Given the description of an element on the screen output the (x, y) to click on. 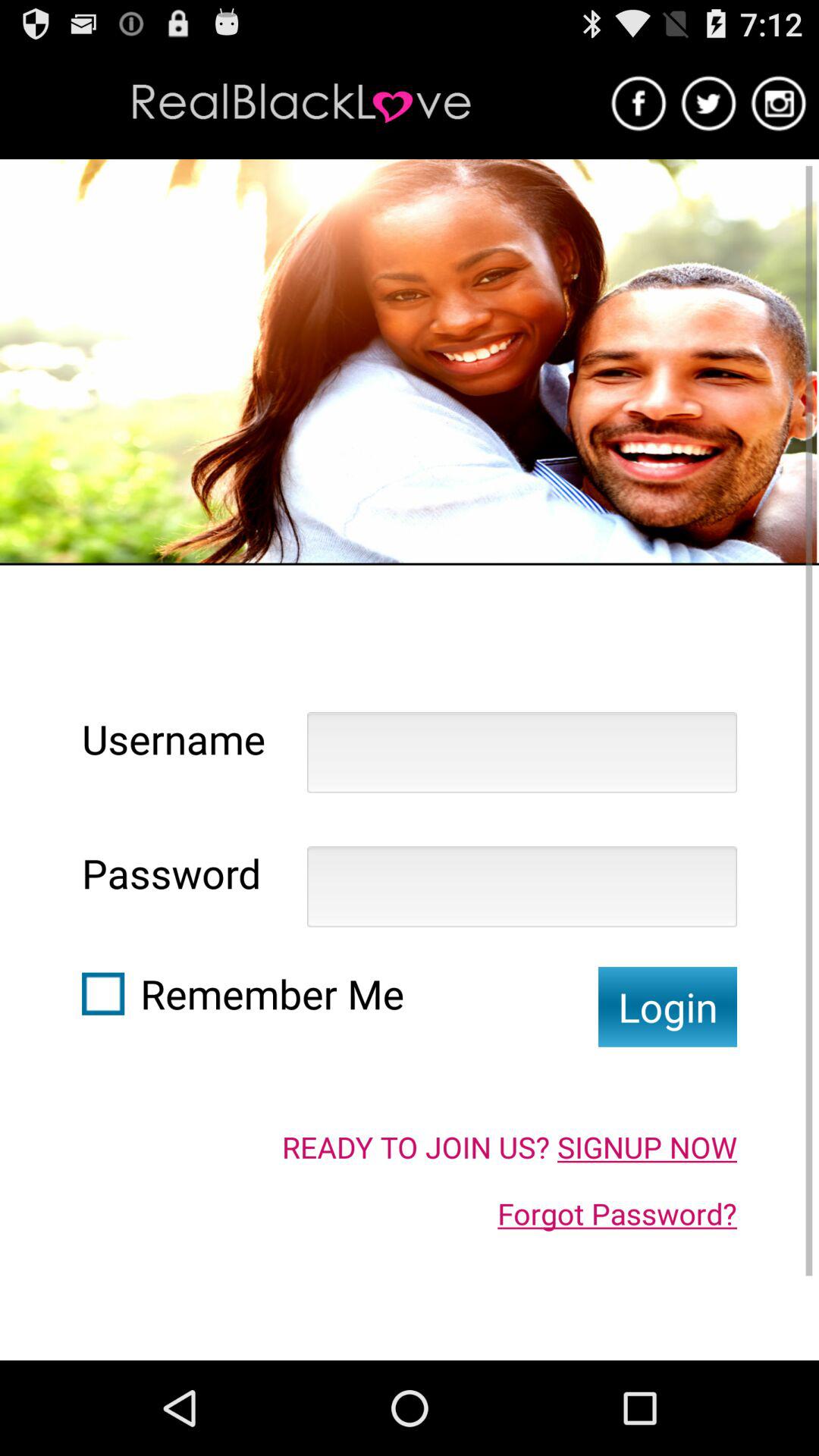
scroll to the ready to join item (509, 1147)
